Given the description of an element on the screen output the (x, y) to click on. 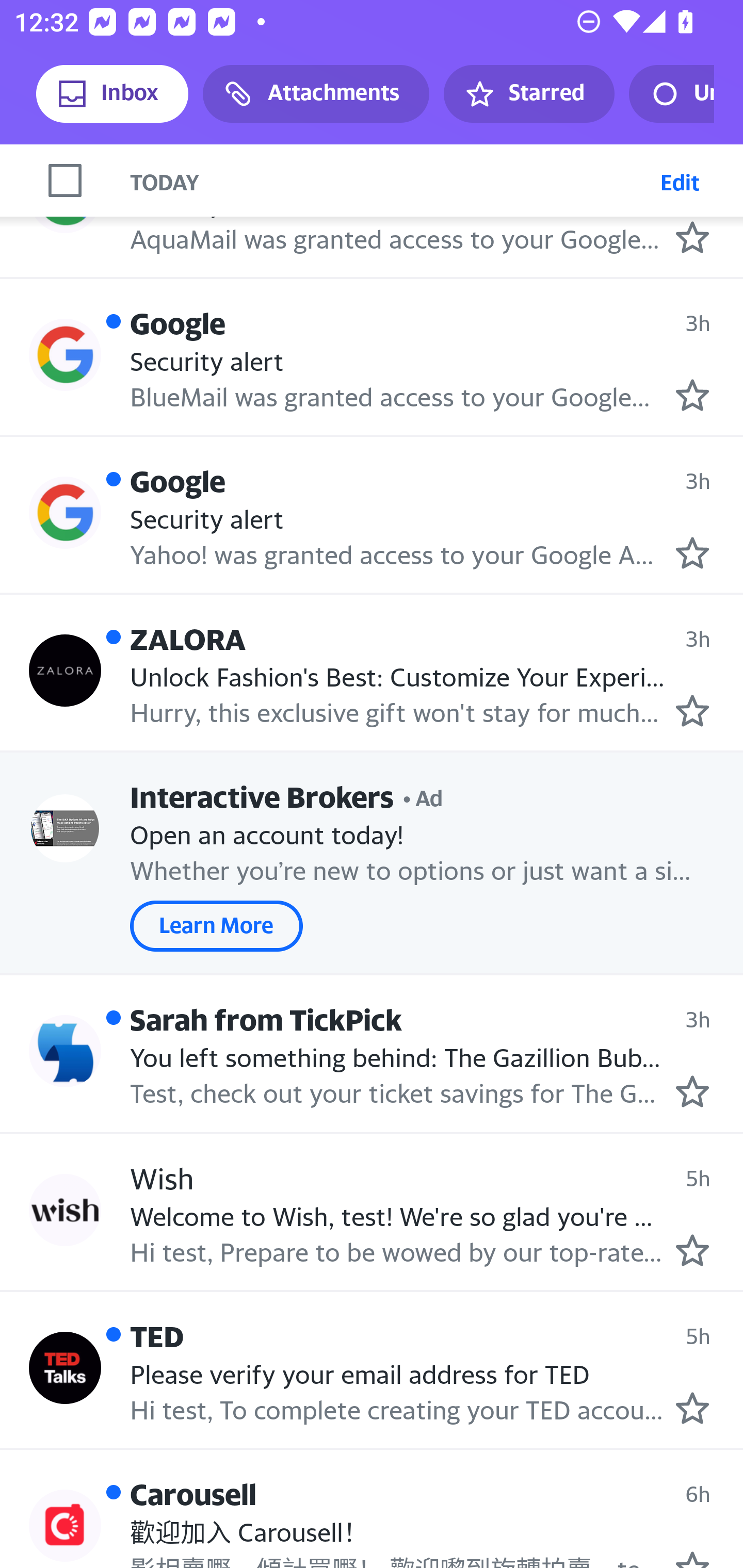
Attachments (315, 93)
Starred (528, 93)
Mark as starred. (692, 237)
Profile
Google (64, 354)
Mark as starred. (692, 394)
Profile
Google (64, 512)
Mark as starred. (692, 552)
Profile
ZALORA (64, 671)
Mark as starred. (692, 711)
Profile
Sarah from TickPick (64, 1050)
Mark as starred. (692, 1092)
Profile
Wish (64, 1210)
Mark as starred. (692, 1250)
Profile
TED (64, 1367)
Mark as starred. (692, 1408)
Profile
Carousell (64, 1525)
